Given the description of an element on the screen output the (x, y) to click on. 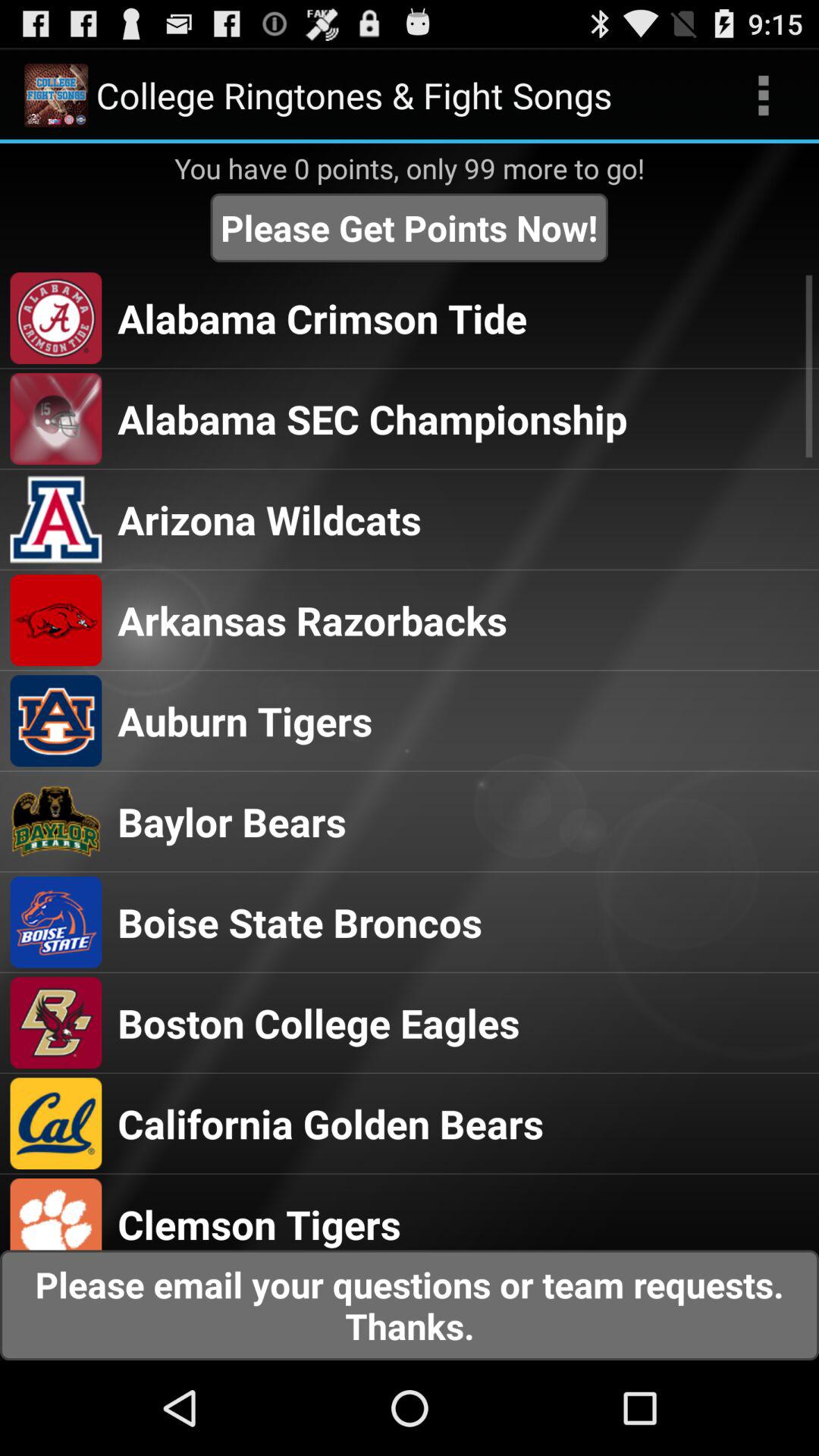
tap app above please email your (258, 1223)
